Given the description of an element on the screen output the (x, y) to click on. 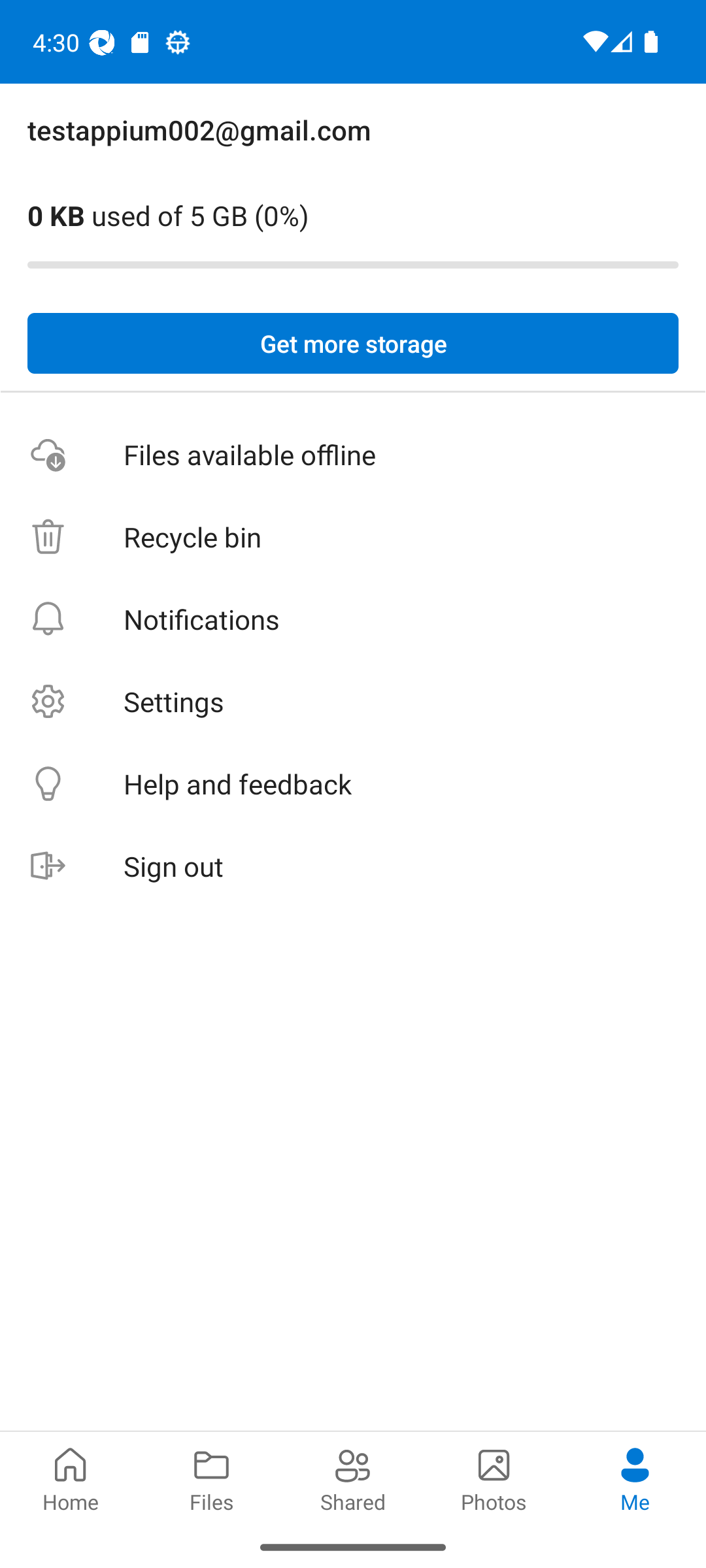
Get more storage (352, 343)
Files available offline (353, 454)
Recycle bin (353, 536)
Notifications (353, 619)
Settings (353, 701)
Help and feedback (353, 783)
Sign out (353, 865)
Home pivot Home (70, 1478)
Files pivot Files (211, 1478)
Shared pivot Shared (352, 1478)
Photos pivot Photos (493, 1478)
